Given the description of an element on the screen output the (x, y) to click on. 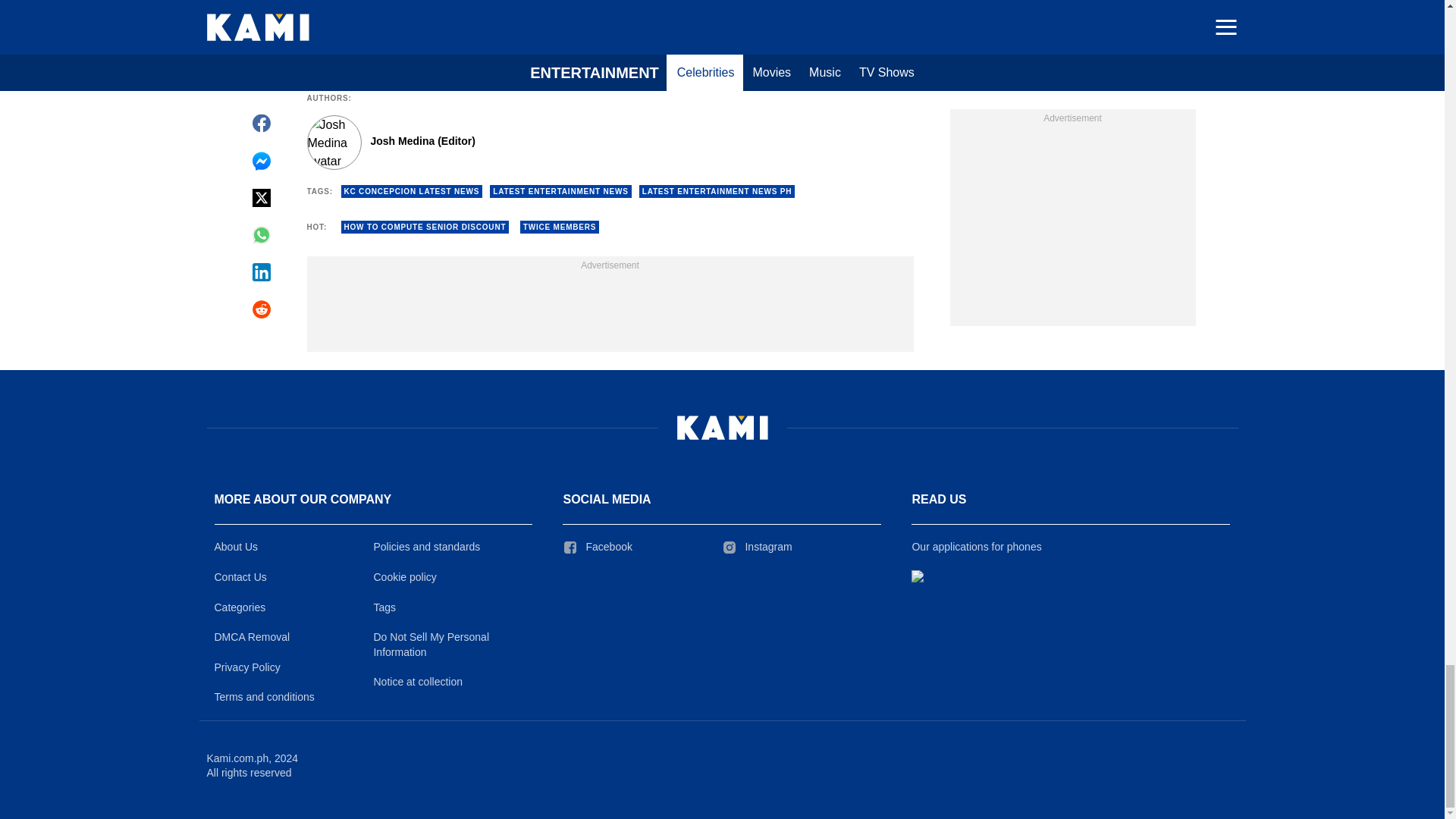
Author page (533, 142)
